Given the description of an element on the screen output the (x, y) to click on. 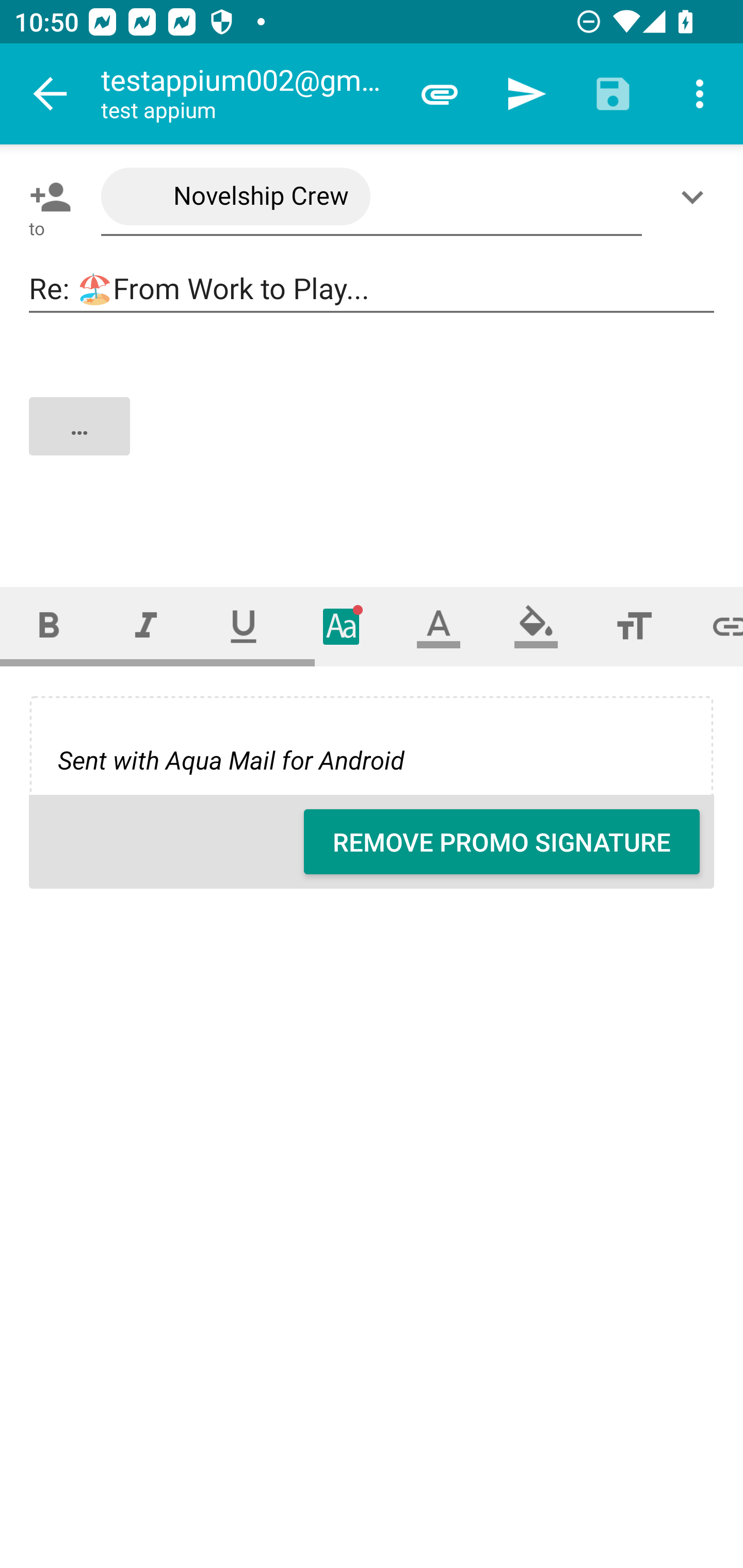
Navigate up (50, 93)
testappium002@gmail.com test appium (248, 93)
Attach (439, 93)
Send (525, 93)
Save (612, 93)
More options (699, 93)
Novelship Crew <crew@email.novelship.com>,  (371, 197)
Pick contact: To (46, 196)
Show/Add CC/BCC (696, 196)
Re: 🏖️From Work to Play... (371, 288)

…
 (372, 442)
Bold (48, 626)
Italic (145, 626)
Underline (243, 626)
Typeface (font) (341, 626)
Text color (438, 626)
Fill color (536, 626)
Font size (633, 626)
Set link (712, 626)
REMOVE PROMO SIGNATURE (501, 841)
